Given the description of an element on the screen output the (x, y) to click on. 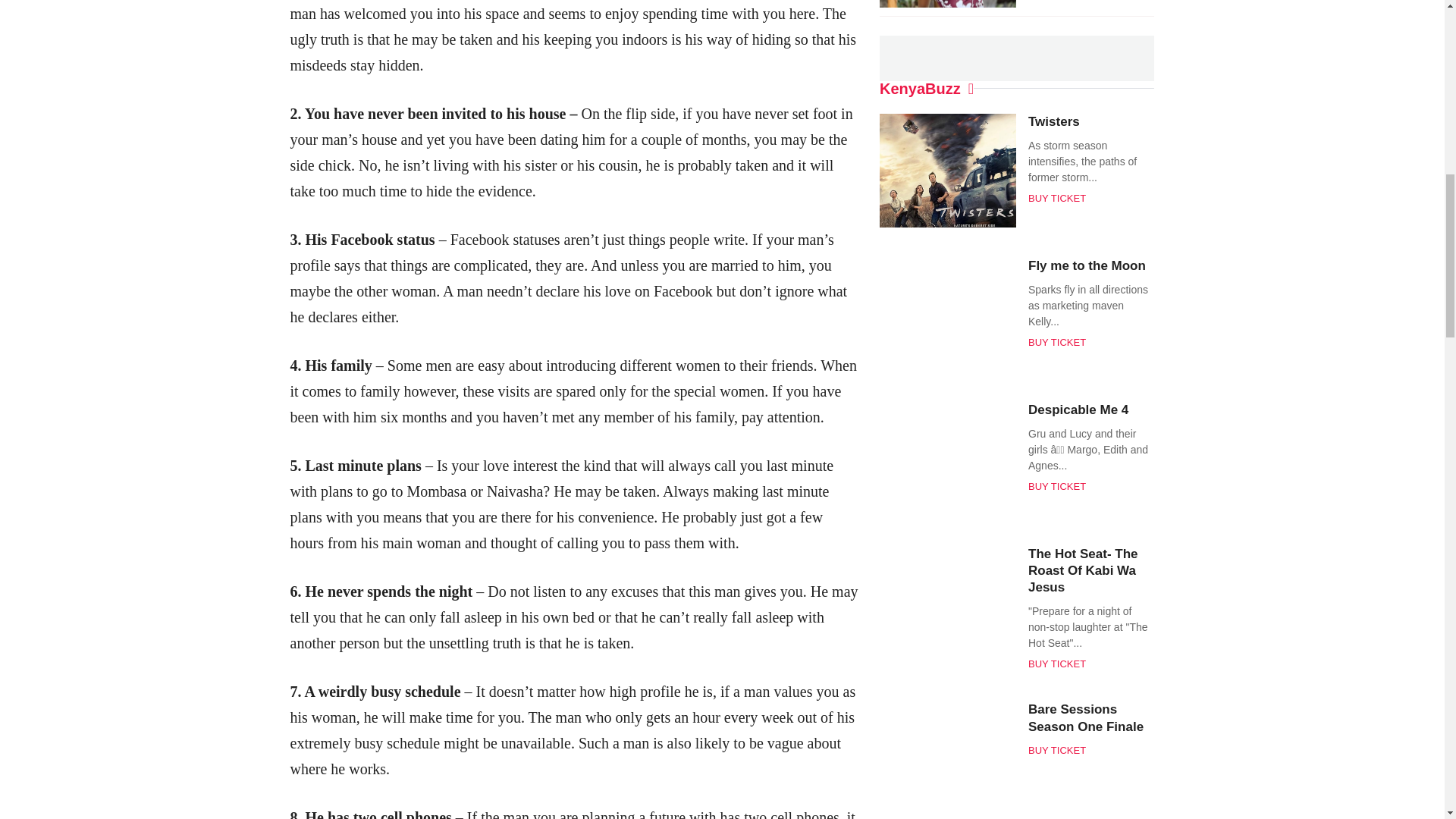
Facebook (681, 49)
How to spot a fake morning after pill (233, 50)
Twitter (708, 49)
